Given the description of an element on the screen output the (x, y) to click on. 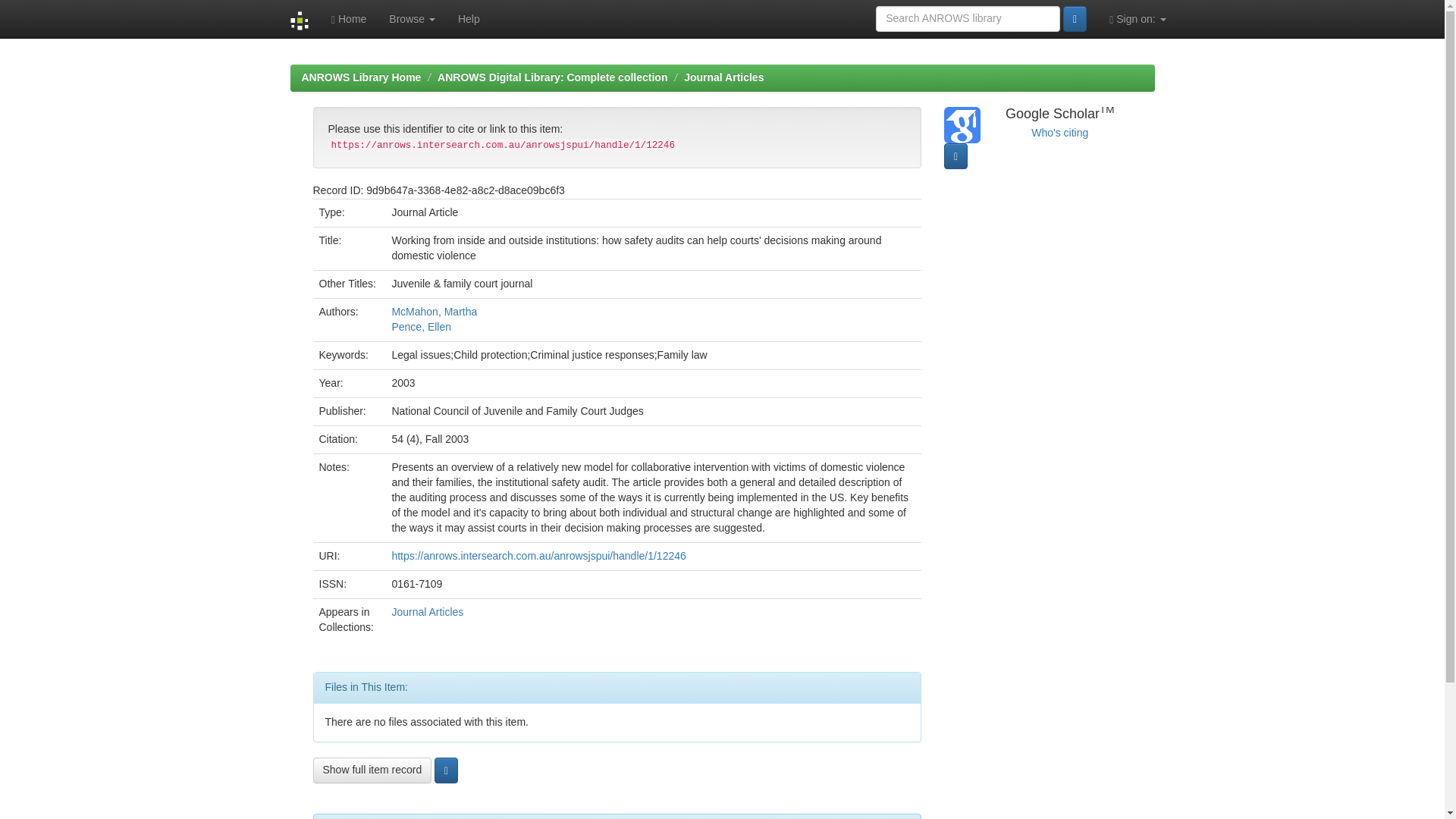
McMahon, Martha (434, 311)
Journal Articles (723, 77)
Browse (411, 18)
Who's citing (1058, 132)
Sign on: (1136, 18)
ANROWS Digital Library: Complete collection (552, 77)
Google Scholar (1058, 132)
Journal Articles (427, 612)
Help (469, 18)
Pence, Ellen (421, 326)
